Given the description of an element on the screen output the (x, y) to click on. 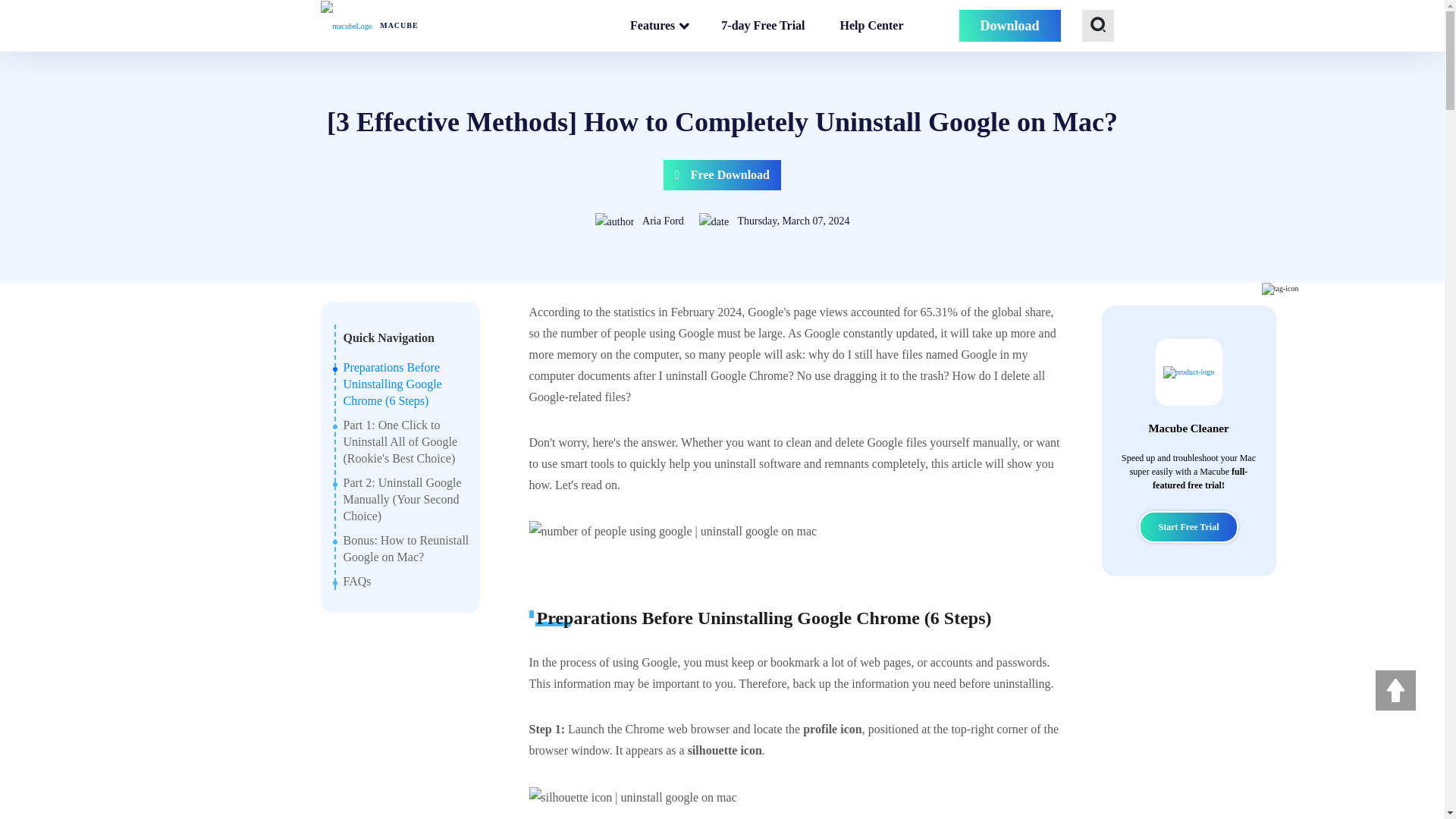
Free Download (721, 174)
Start Free Trial (1188, 526)
FAQs (356, 581)
7-day Free Trial (762, 25)
MACUBE (368, 25)
Bonus: How to Reunistall Google on Mac? (405, 548)
Download (1008, 26)
Help Center (872, 25)
